Given the description of an element on the screen output the (x, y) to click on. 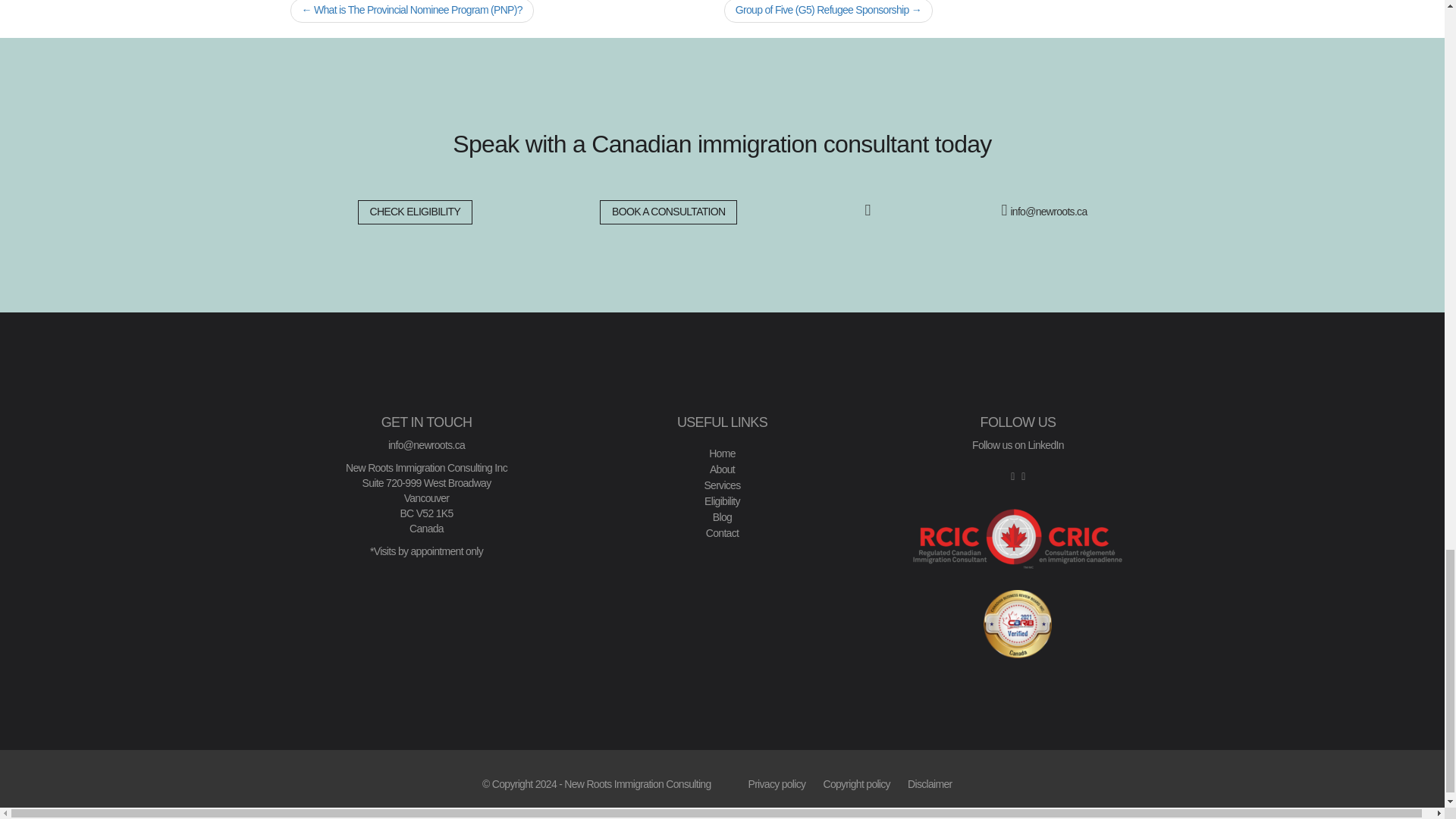
BOOK A CONSULTATION (667, 211)
New Roots Immigration Consulting (637, 784)
CHECK ELIGIBILITY (415, 211)
